Given the description of an element on the screen output the (x, y) to click on. 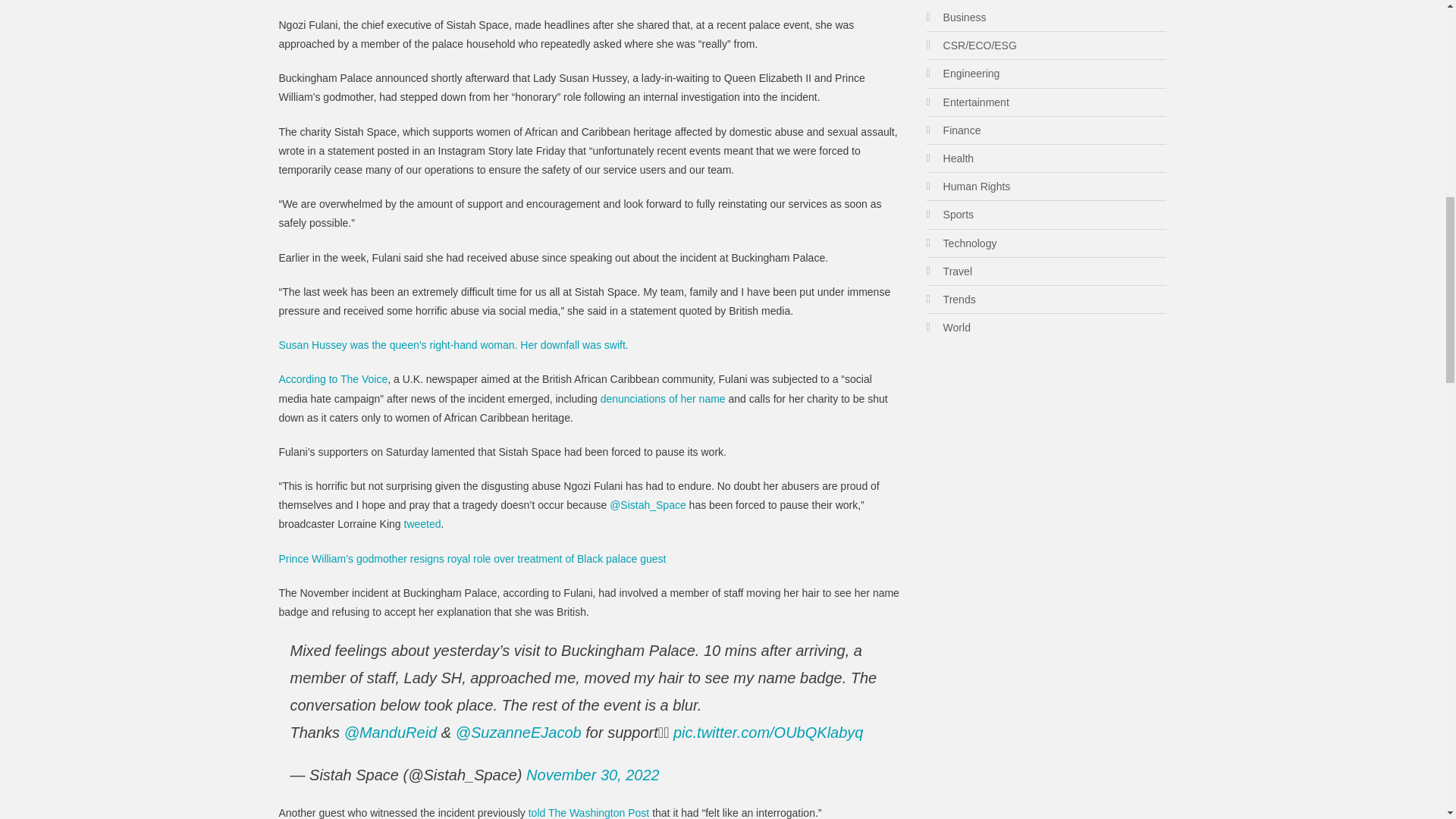
According to The Voice (333, 378)
November 30, 2022 (592, 774)
denunciations of her name (662, 398)
tweeted (422, 523)
told The Washington Post (587, 812)
